Given the description of an element on the screen output the (x, y) to click on. 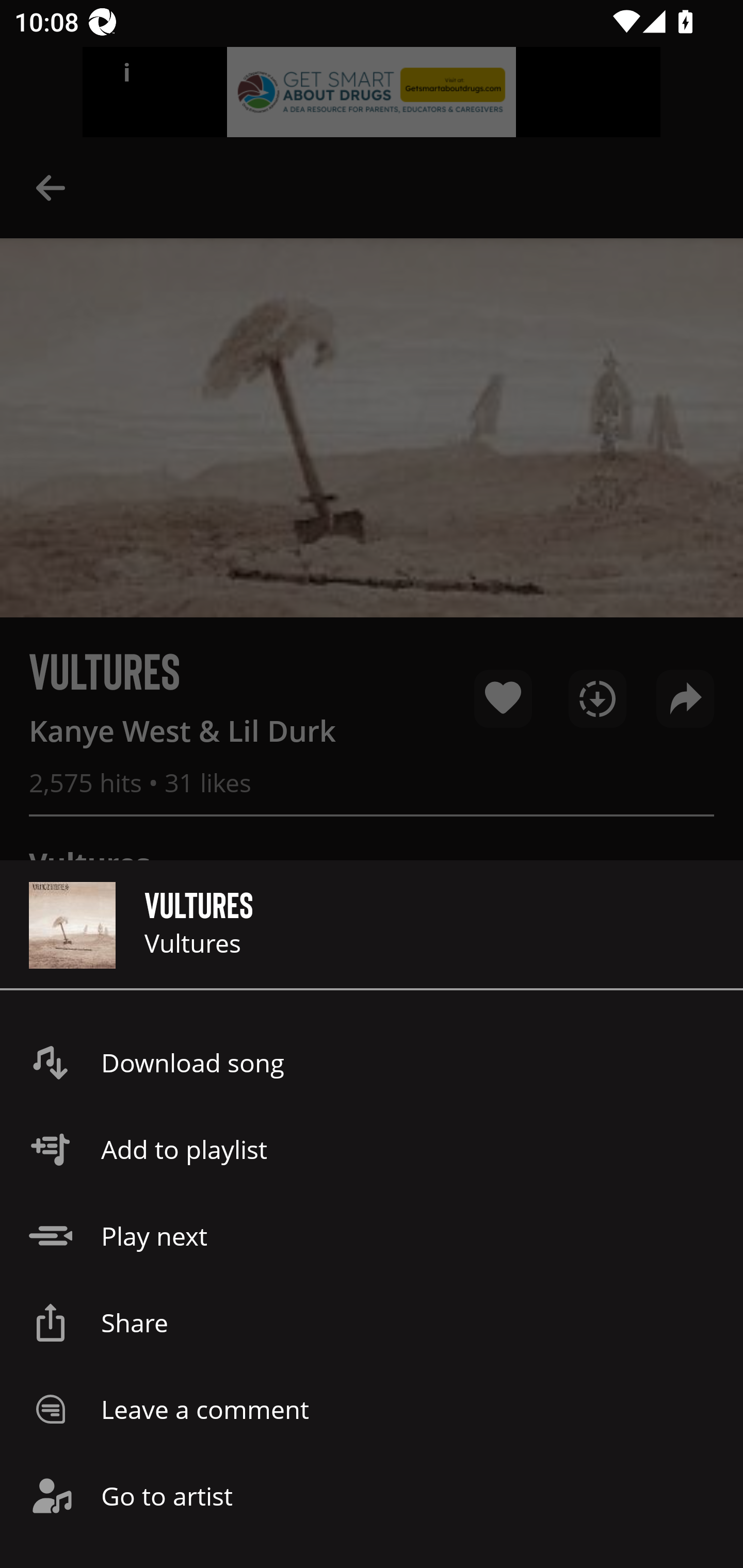
Download song (371, 1062)
Add to playlist (371, 1149)
Play next (371, 1236)
Share (371, 1322)
Leave a comment (371, 1408)
Go to artist (371, 1495)
